Given the description of an element on the screen output the (x, y) to click on. 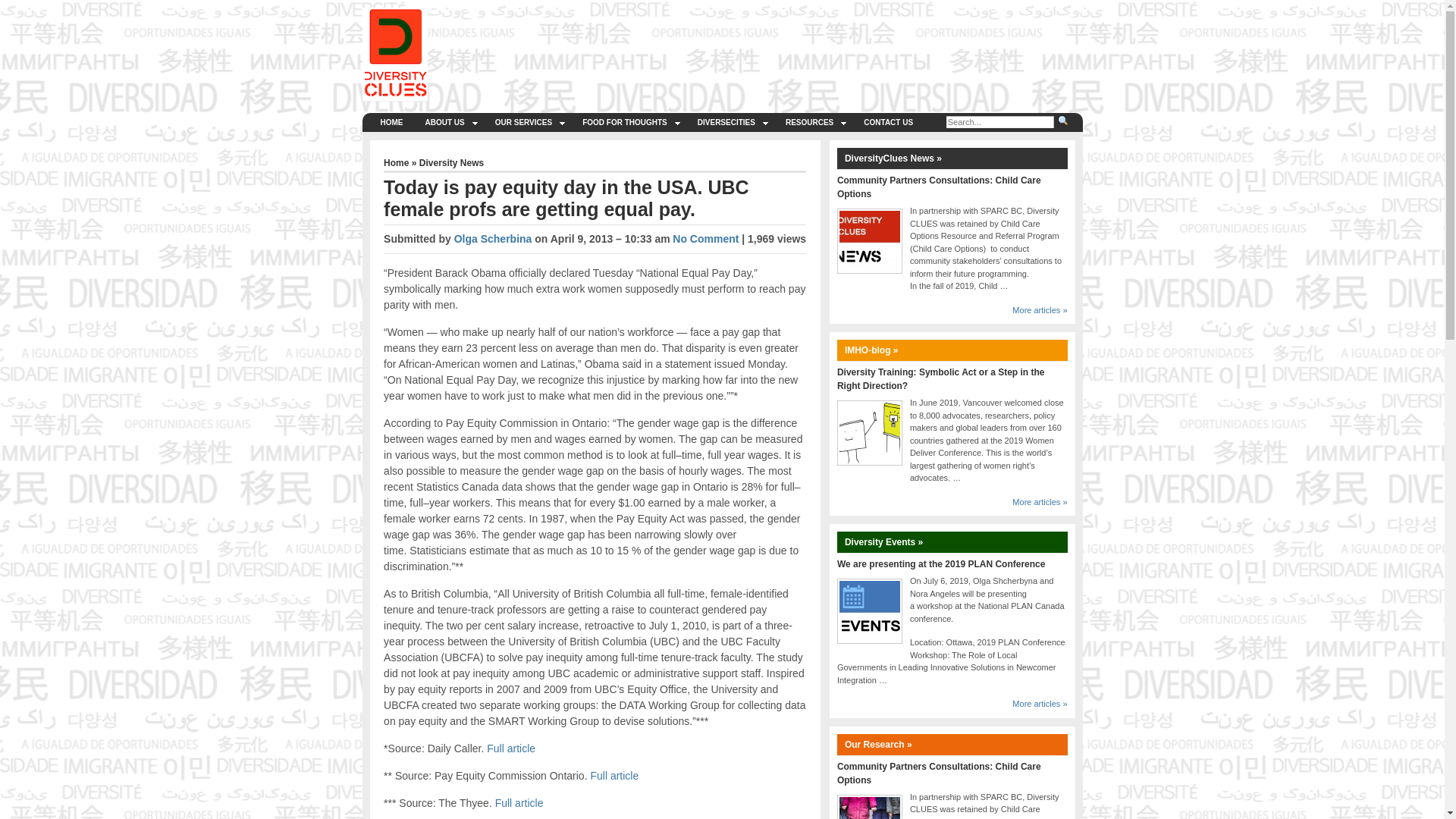
RESOURCES (812, 122)
CONTACT US (888, 122)
HOME (391, 122)
FOOD FOR THOUGHTS (628, 122)
No Comment (705, 238)
Full article (614, 775)
Diversity News (451, 163)
Olga Scherbina (493, 238)
Home (396, 163)
ABOUT US (448, 122)
Full article (519, 802)
Posts by Olga Scherbina (493, 238)
Full article (510, 748)
Advertisement (798, 41)
DIVERSECITIES (730, 122)
